Given the description of an element on the screen output the (x, y) to click on. 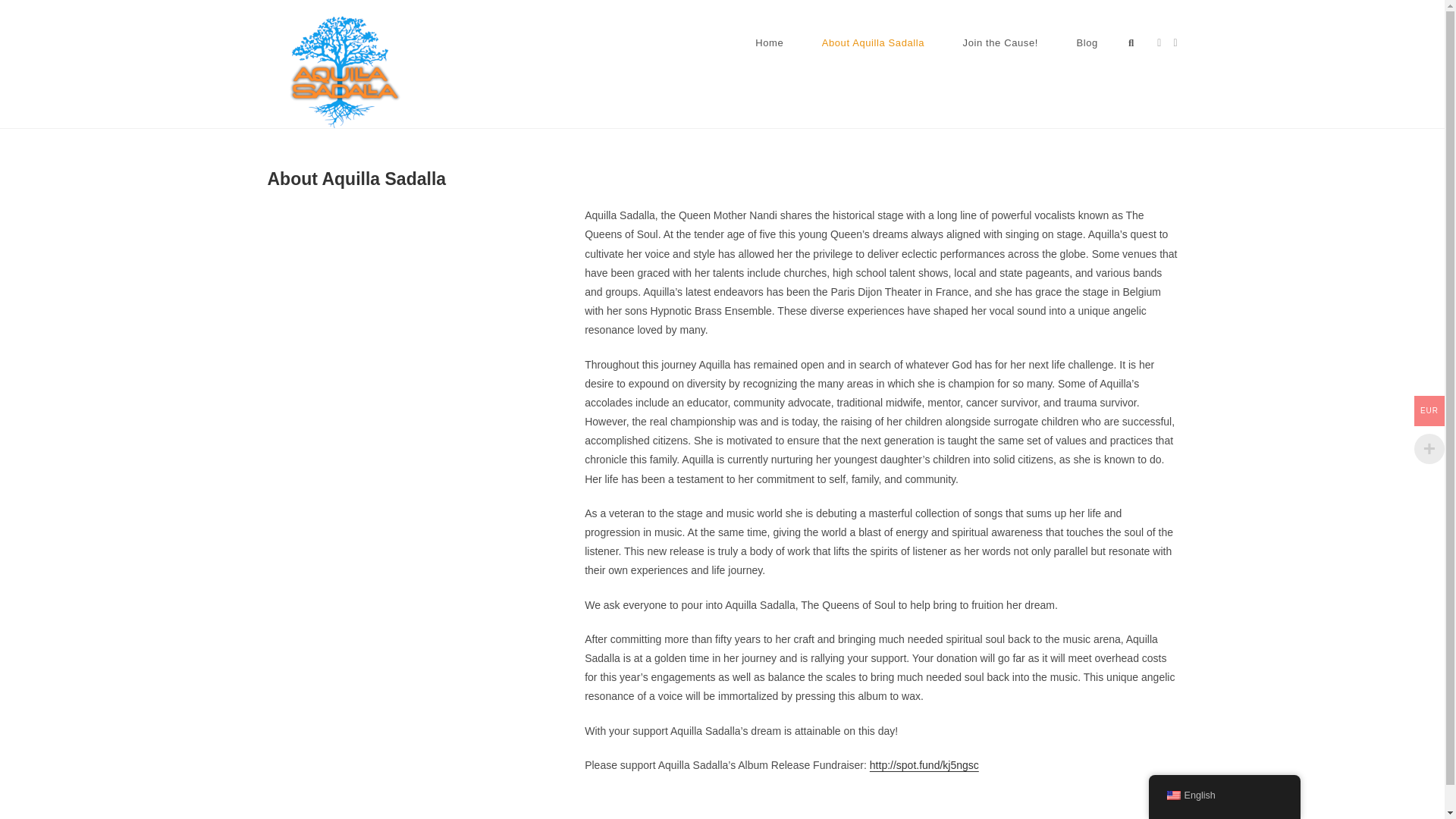
Blog (1086, 43)
About Aquilla Sadalla (872, 43)
English (1172, 795)
SUBMIT (616, 728)
Kraby Marketing (400, 801)
Join the Cause! (1117, 801)
Blog (1167, 801)
Join the Cause! (1000, 43)
About Aquilla Sadalla (1032, 801)
Support Now! (418, 365)
Home (769, 43)
English (1224, 795)
Home (967, 801)
